Given the description of an element on the screen output the (x, y) to click on. 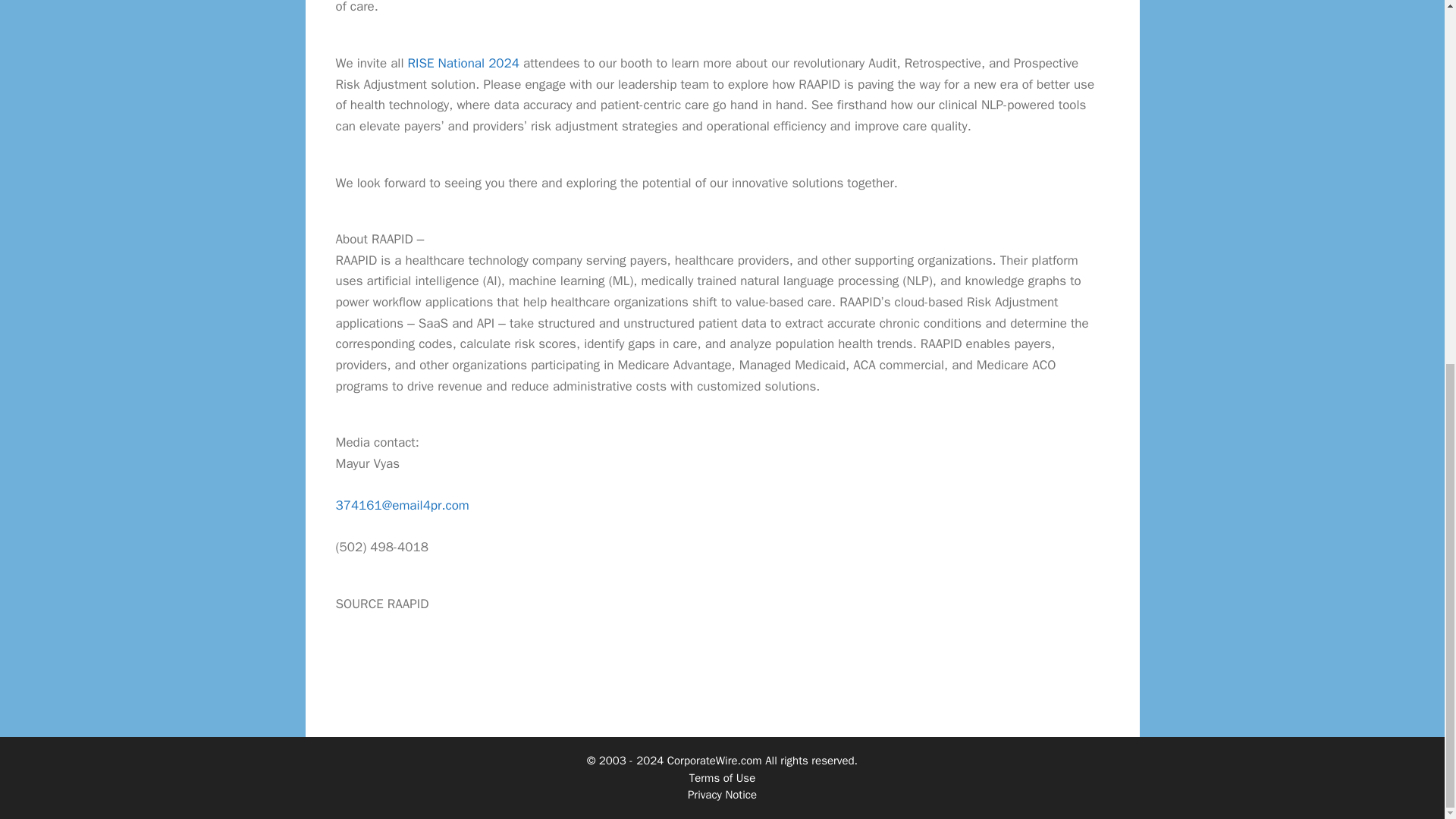
Terms of Use (721, 777)
Privacy Notice (722, 794)
RISE National 2024 (463, 63)
